Given the description of an element on the screen output the (x, y) to click on. 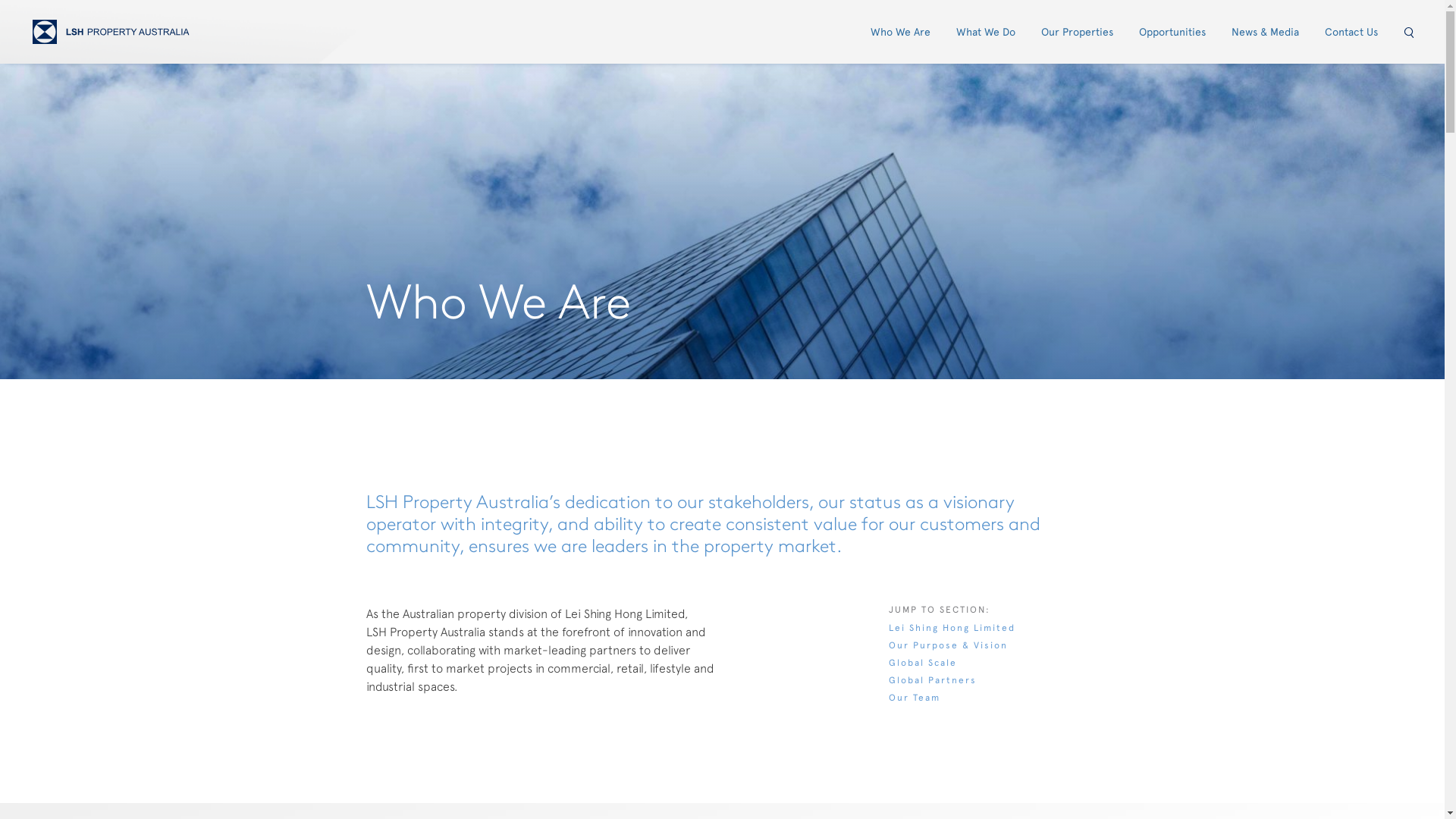
Our Properties Element type: text (1077, 31)
Our Team Element type: text (914, 697)
Global Scale Element type: text (922, 662)
Global Partners Element type: text (932, 679)
Our Purpose & Vision Element type: text (947, 645)
Who We Are Element type: text (900, 31)
Opportunities Element type: text (1172, 31)
Contact Us Element type: text (1350, 31)
Lei Shing Hong Limited Element type: text (951, 627)
News & Media Element type: text (1265, 31)
What We Do Element type: text (985, 31)
